Given the description of an element on the screen output the (x, y) to click on. 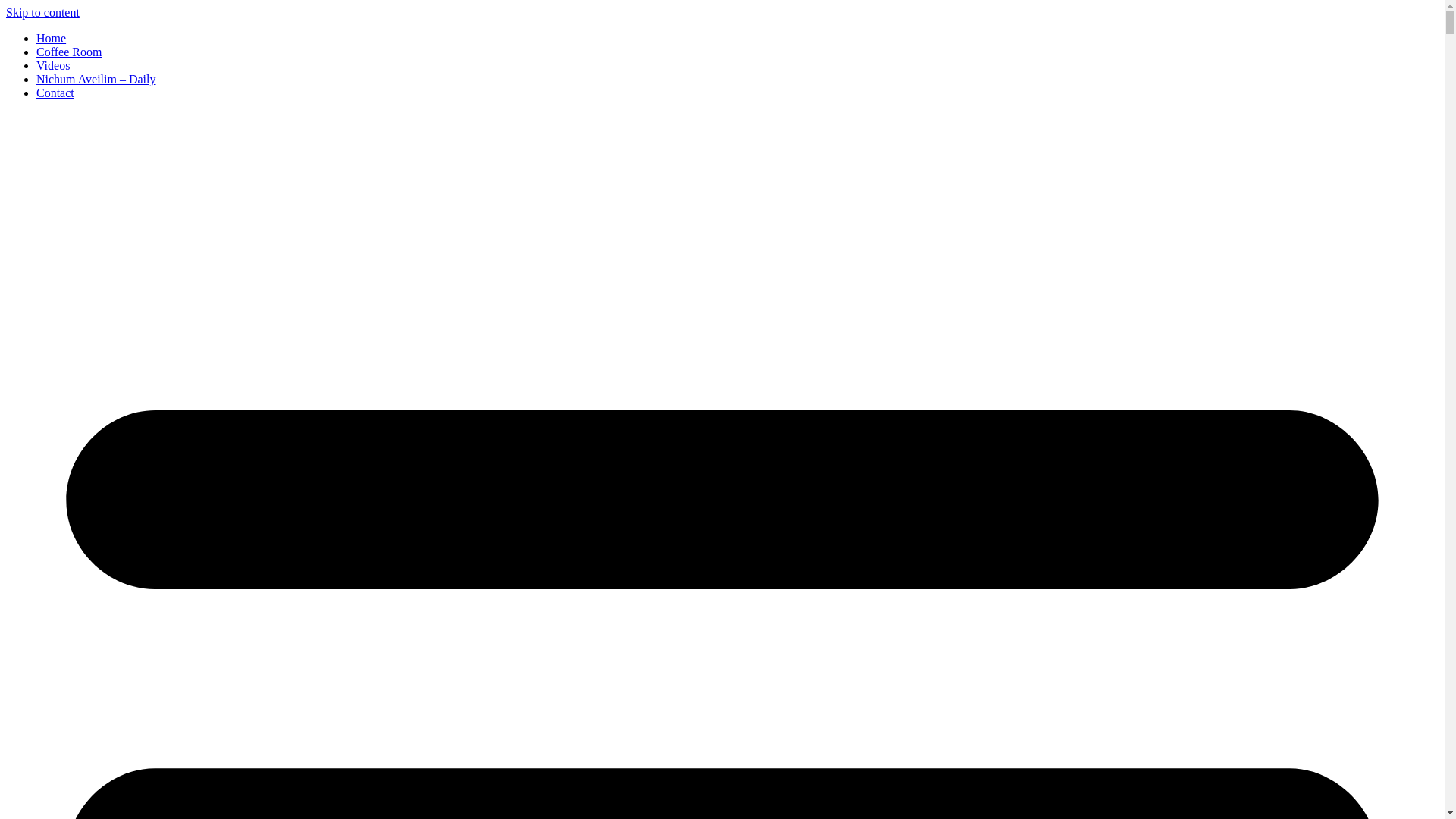
Home (50, 38)
Contact (55, 92)
Skip to content (42, 11)
Coffee Room (68, 51)
Videos (52, 65)
